Given the description of an element on the screen output the (x, y) to click on. 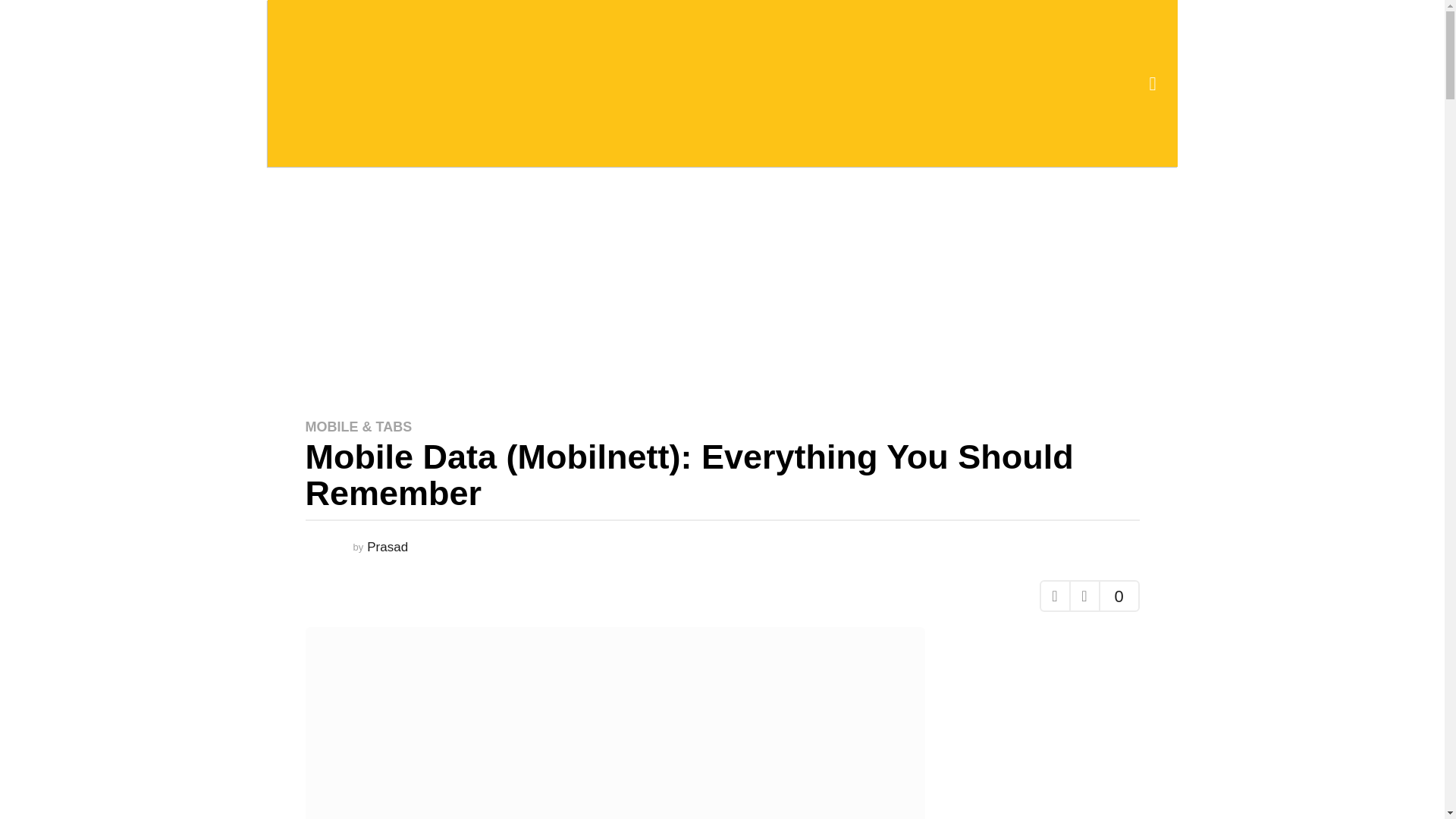
Prasad (386, 546)
